Given the description of an element on the screen output the (x, y) to click on. 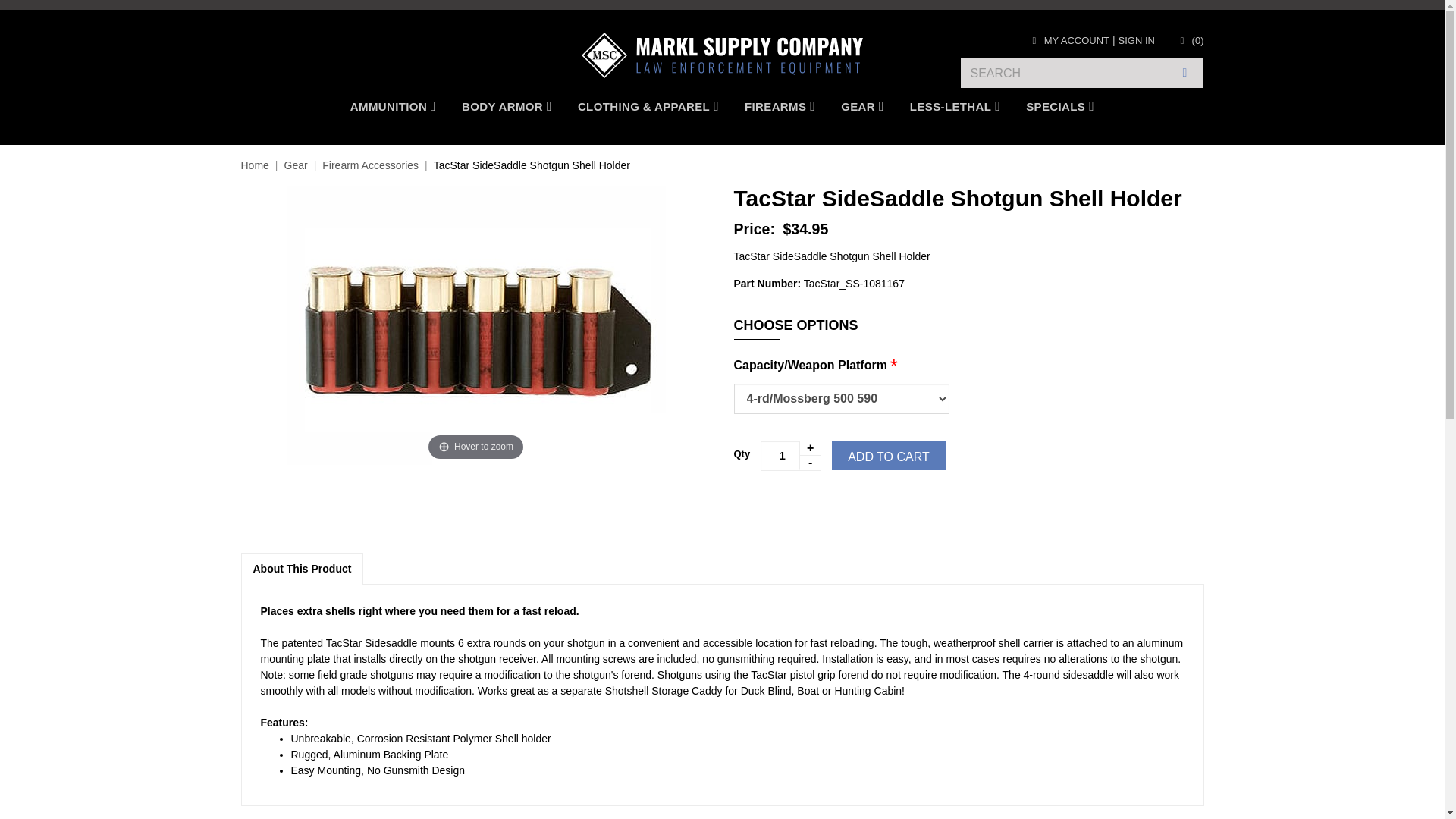
1 (790, 455)
SIGN IN (1136, 40)
GEAR (862, 106)
AMMUNITION (392, 106)
home (722, 54)
MY ACCOUNT (1068, 40)
FIREARMS (780, 106)
Markl Supply Company (722, 54)
SEARCH (1185, 72)
BODY ARMOR (506, 106)
